Given the description of an element on the screen output the (x, y) to click on. 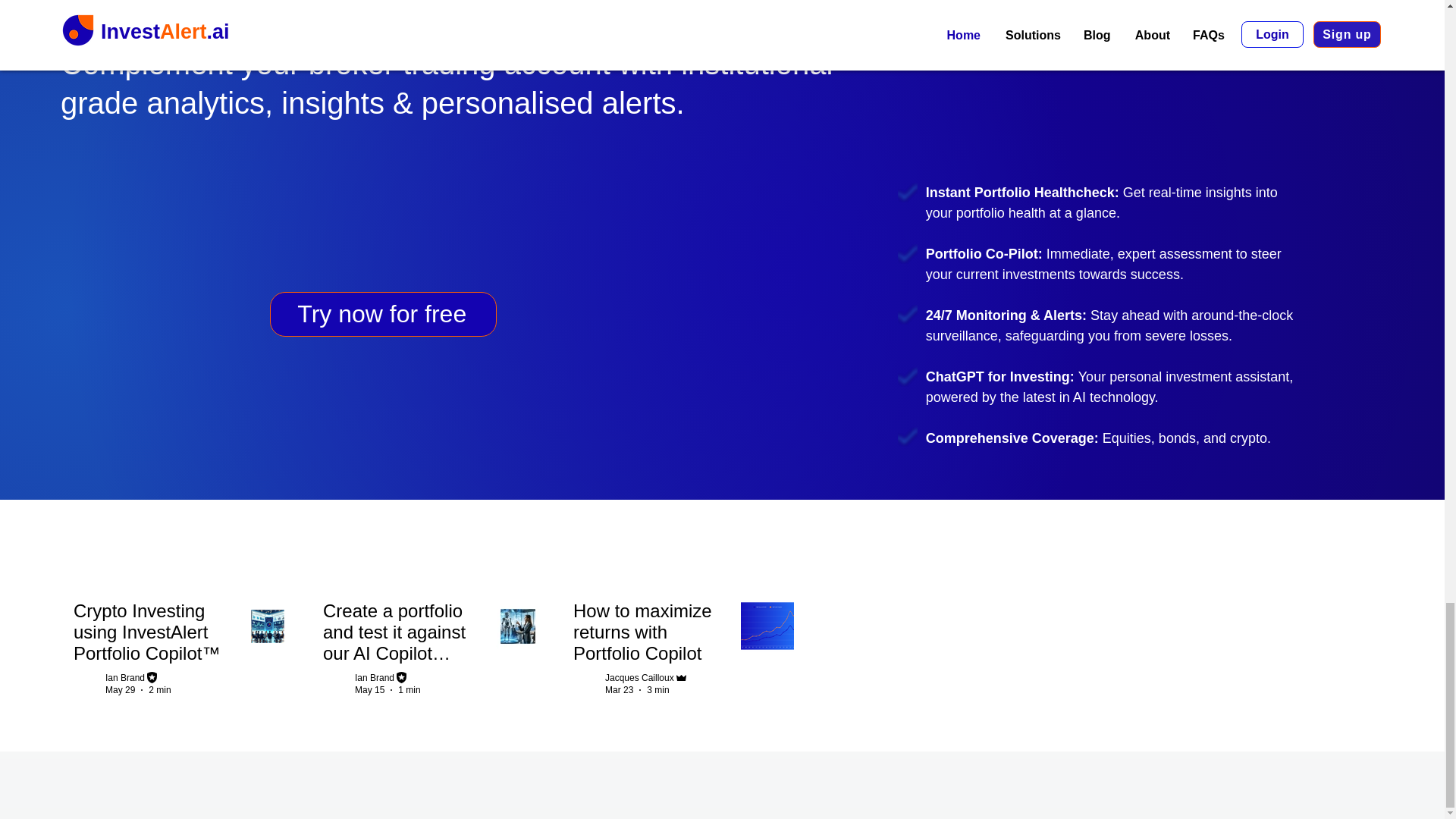
Try now for free (382, 313)
3 min (657, 689)
How to maximize returns with Portfolio Copilot (652, 635)
May 29 (119, 689)
Ian Brand (124, 677)
1 min (408, 689)
Mar 23 (619, 689)
Ian Brand (374, 677)
Jacques Cailloux (639, 677)
